Given the description of an element on the screen output the (x, y) to click on. 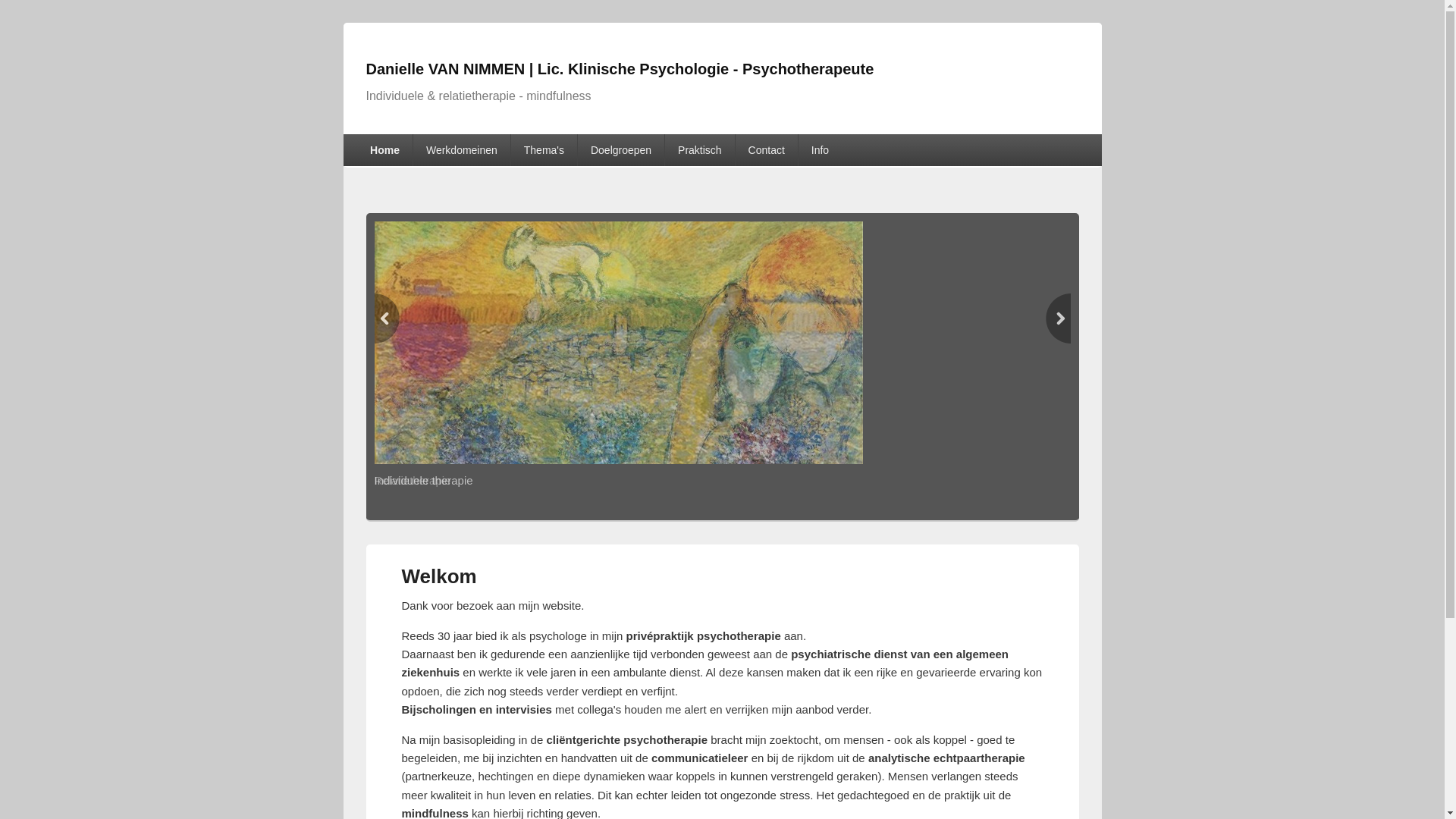
Info Element type: text (819, 150)
Contact Element type: text (766, 150)
Home Element type: text (384, 150)
Welkom Element type: text (438, 575)
Werkdomeinen Element type: text (461, 150)
Thema's Element type: text (544, 150)
Doelgroepen Element type: text (620, 150)
Praktisch Element type: text (699, 150)
